Given the description of an element on the screen output the (x, y) to click on. 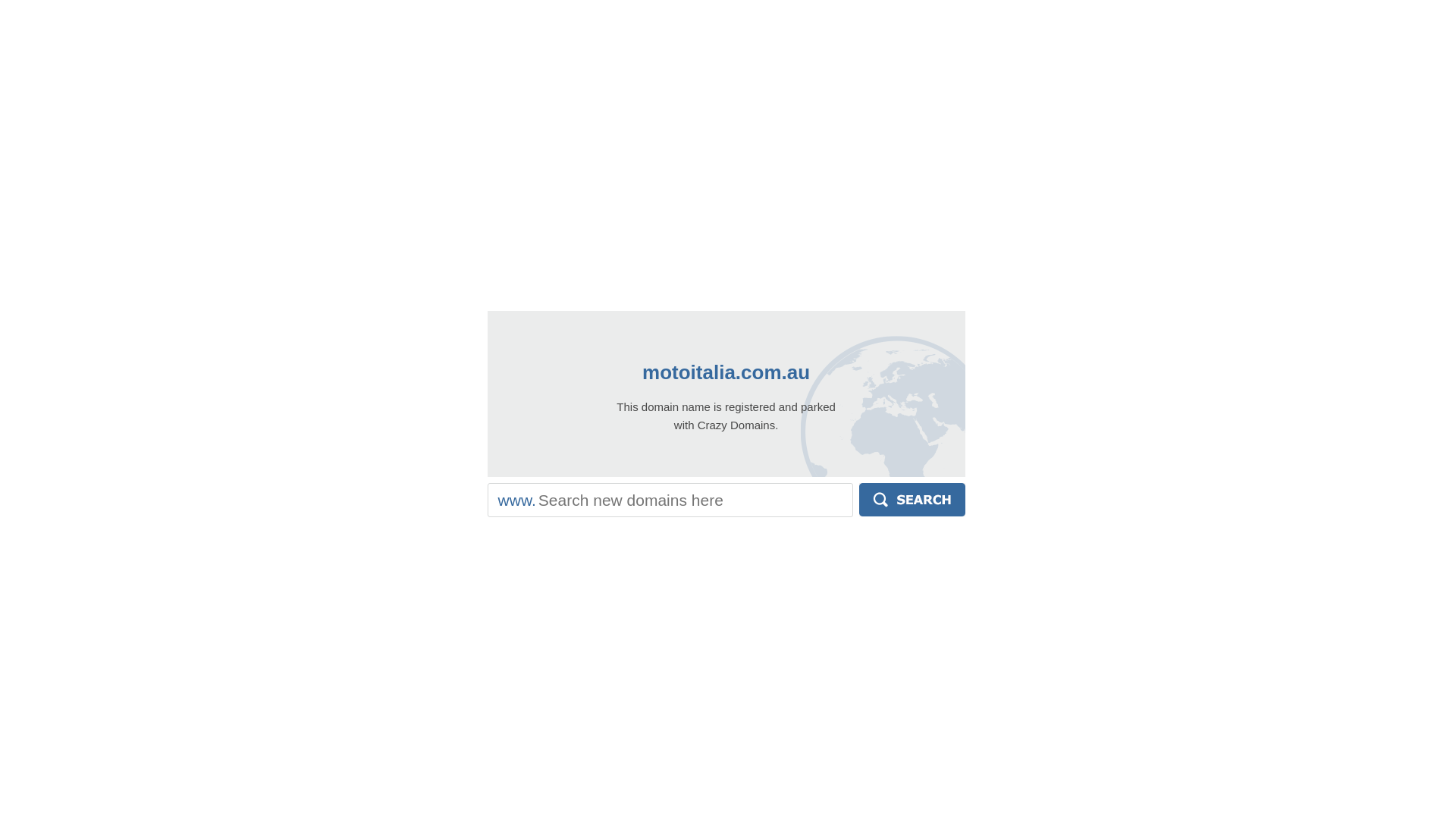
Search Element type: text (912, 499)
